Given the description of an element on the screen output the (x, y) to click on. 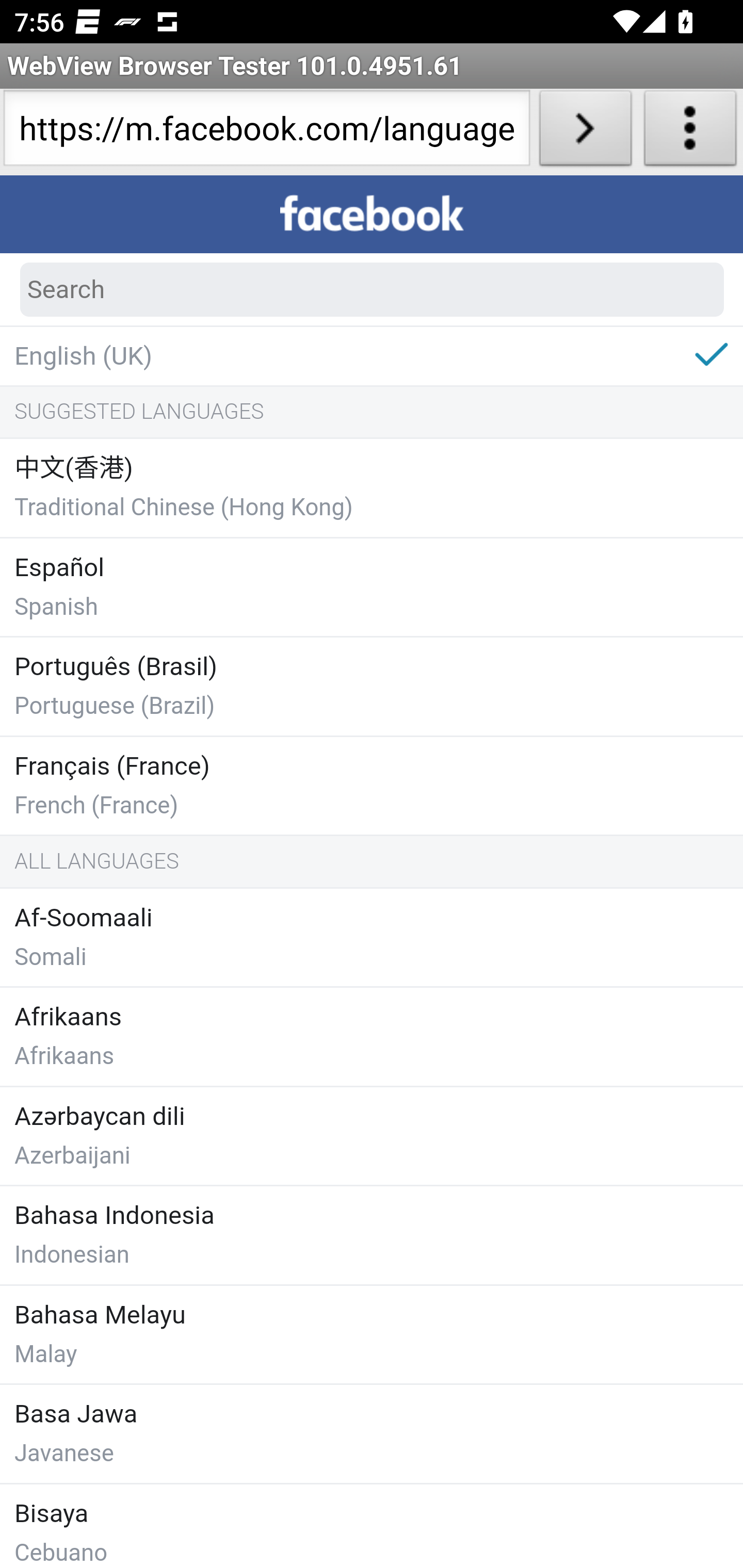
Load URL (585, 132)
About WebView (690, 132)
Switch to the basic mobile site.   (1, 176)
facebook (371, 214)
中文(香港)Traditional Chinese (Hong Kong) (371, 489)
EspañolSpanish (371, 587)
Português (Brasil)Portuguese (Brazil) (371, 688)
Français (France)French (France) (371, 786)
Af-SoomaaliSomali (371, 937)
AfrikaansAfrikaans (371, 1037)
Azərbaycan diliAzerbaijani (371, 1135)
Bahasa IndonesiaIndonesian (371, 1236)
Bahasa MelayuMalay (371, 1334)
Basa JawaJavanese (371, 1435)
BisayaCebuano (371, 1524)
